Given the description of an element on the screen output the (x, y) to click on. 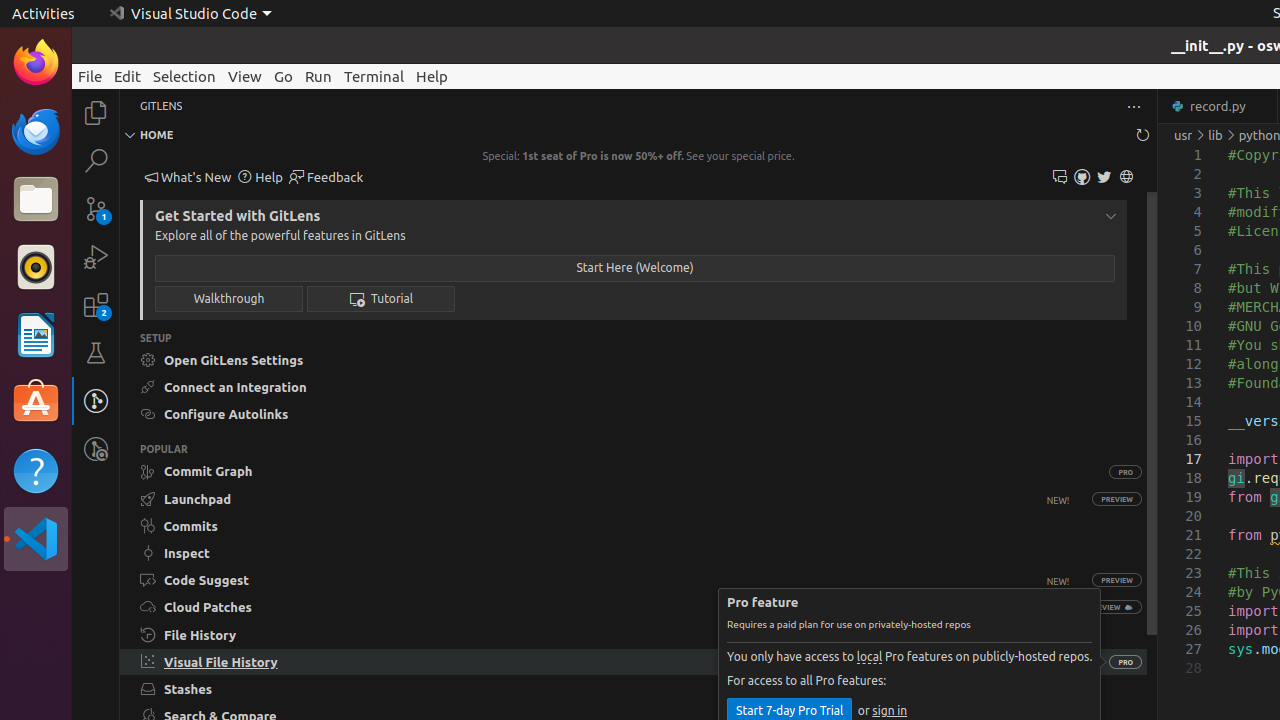
Connect an Integration on GitKraken.dev Element type: link (633, 387)
Open Welcome Element type: link (635, 268)
Selection Element type: push-button (184, 76)
Source Control (Ctrl+Shift+G G) - 1 pending changes Source Control (Ctrl+Shift+G G) - 1 pending changes Element type: page-tab (96, 208)
